Given the description of an element on the screen output the (x, y) to click on. 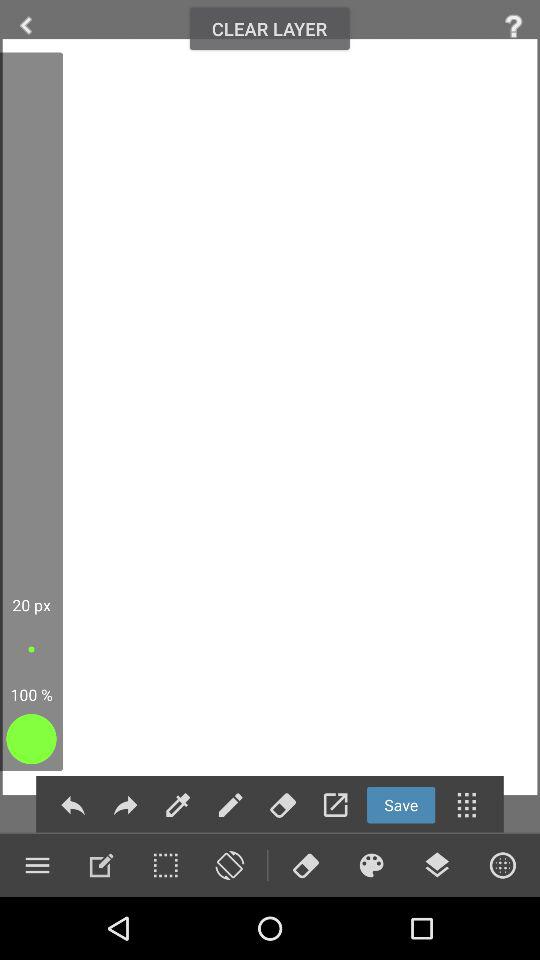
select pen (230, 804)
